Given the description of an element on the screen output the (x, y) to click on. 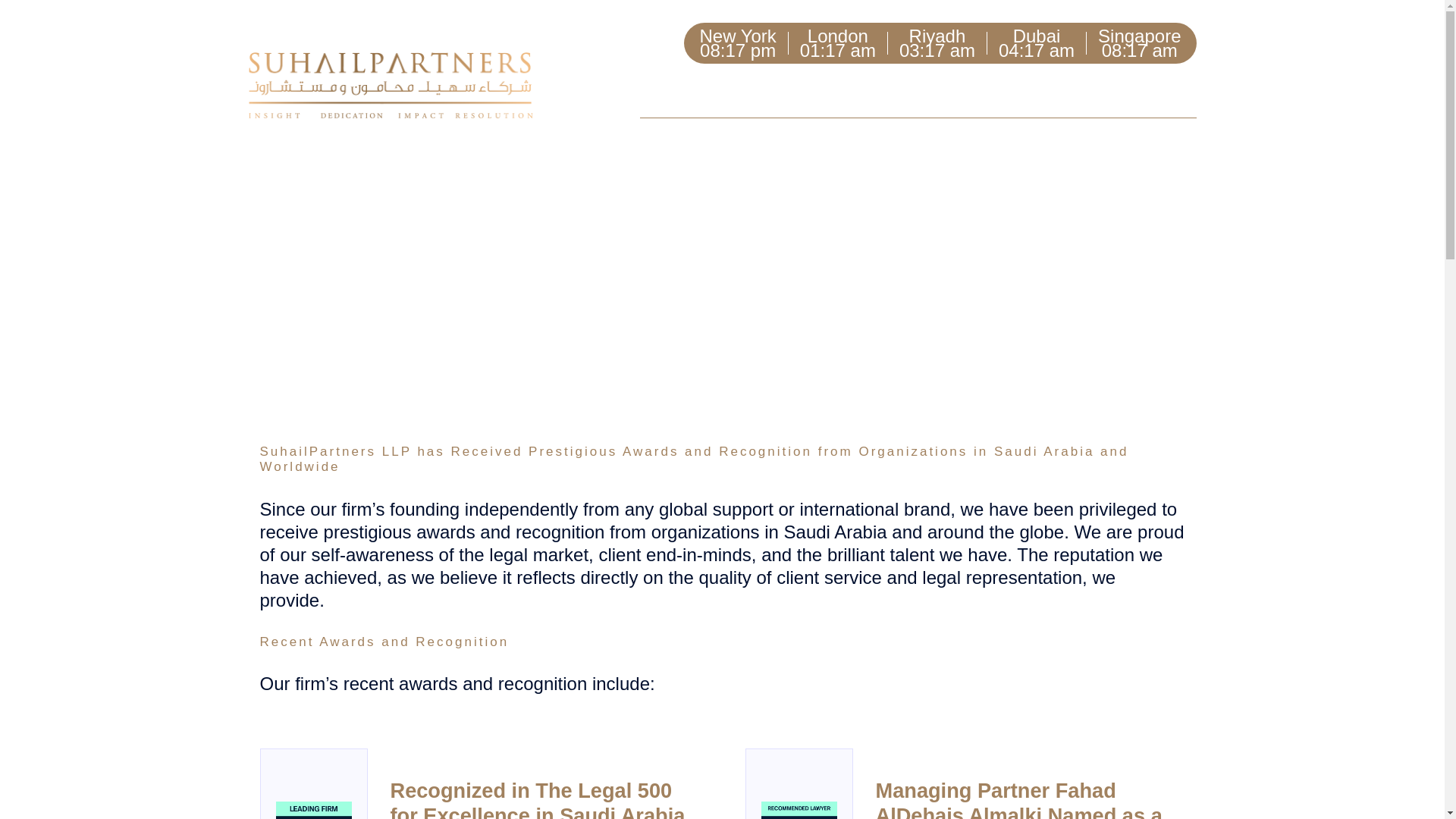
Practices (888, 92)
About Us (689, 92)
Our Team (789, 92)
